Given the description of an element on the screen output the (x, y) to click on. 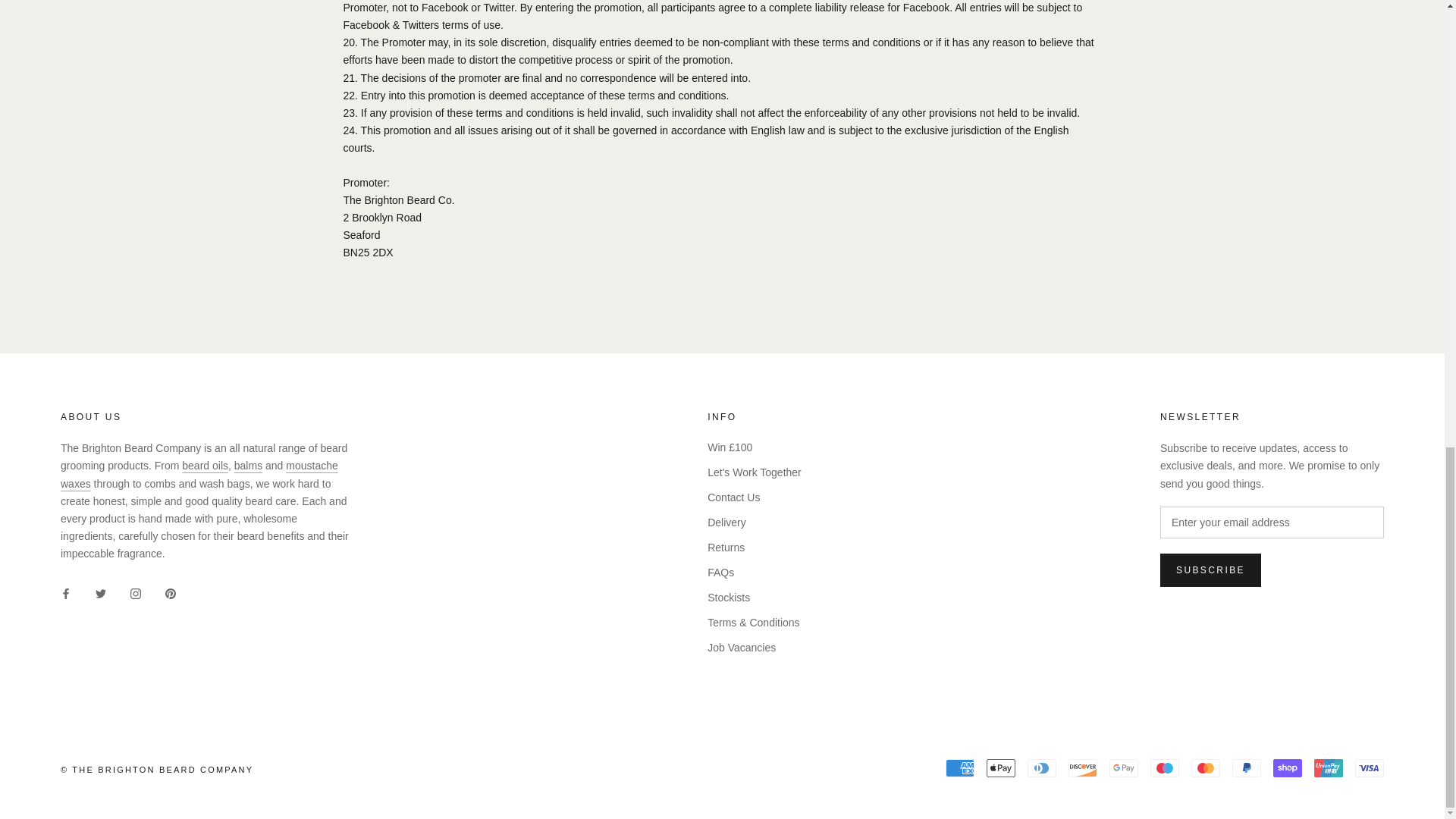
Diners Club (1042, 768)
American Express (959, 768)
Mastercard (1205, 768)
Maestro (1164, 768)
Google Pay (1123, 768)
Discover (1082, 768)
Union Pay (1328, 768)
Shop Pay (1286, 768)
Apple Pay (1000, 768)
PayPal (1245, 768)
